Given the description of an element on the screen output the (x, y) to click on. 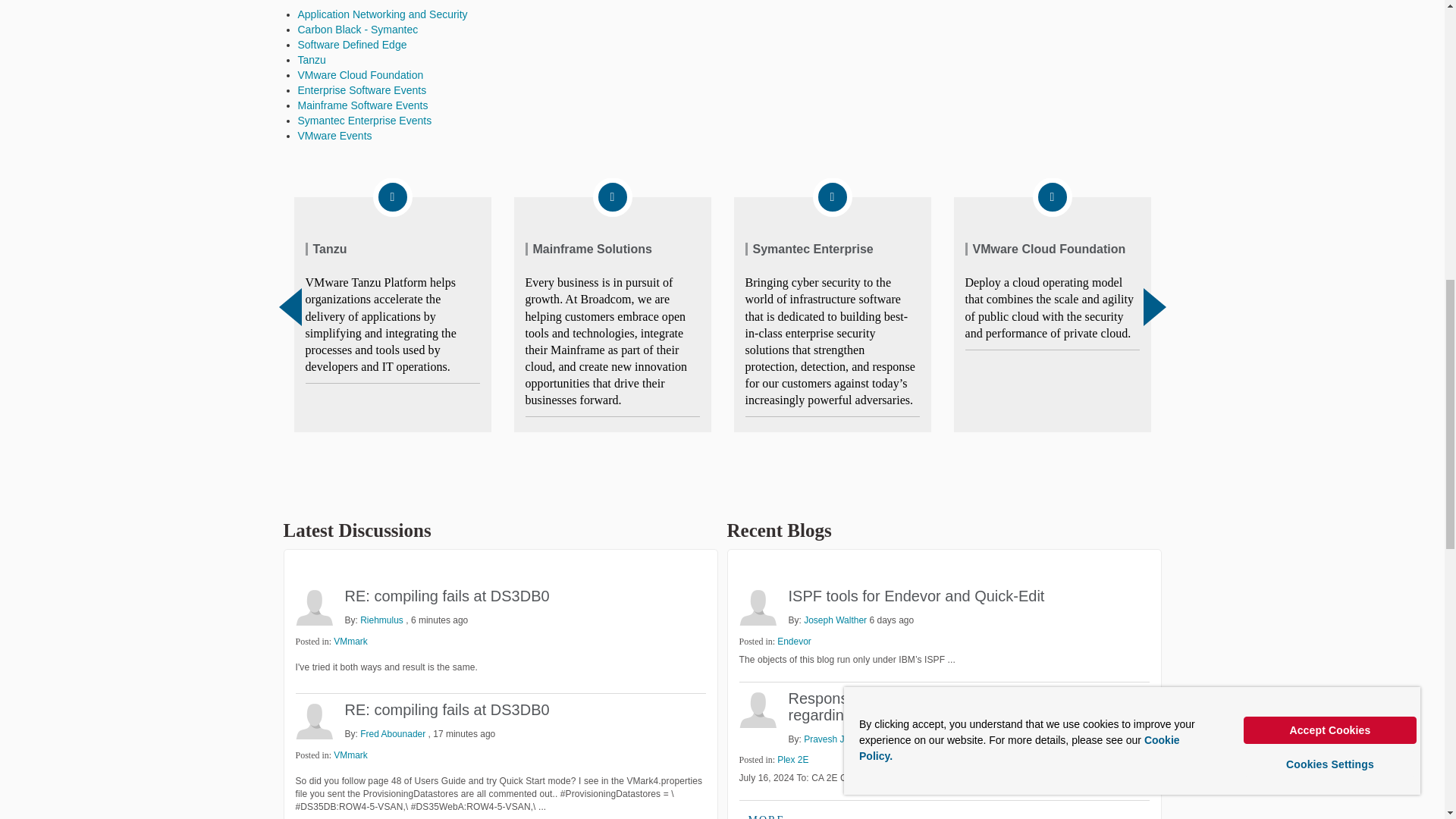
RE: compiling fails at DS3DB0 (445, 596)
VMmark (350, 641)
RE: compiling fails at DS3DB0 (445, 709)
Joseph Walther (757, 606)
VMmark (350, 755)
Fred Abounader (314, 720)
ISPF tools for Endevor and Quick-Edit (917, 596)
Pravesh Jha (757, 709)
Riehmulus (314, 606)
View All Blog Posts (765, 813)
